Given the description of an element on the screen output the (x, y) to click on. 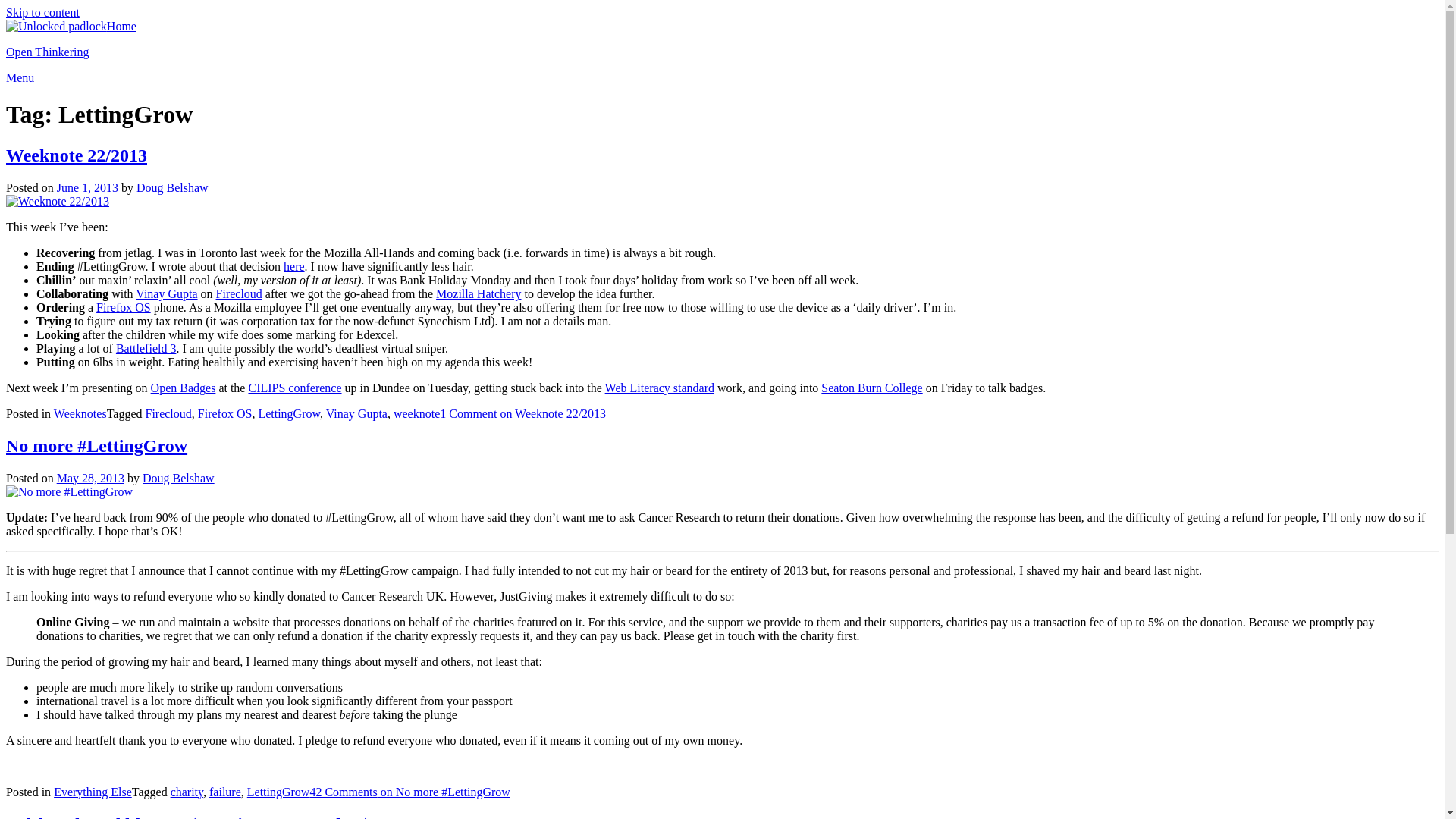
June 1, 2013 (86, 187)
Firefox OS (224, 413)
Firefox OS (123, 307)
Seaton Burn College (871, 387)
Weeknotes (79, 413)
here (293, 266)
Open Thinkering (46, 51)
CILIPS conference (293, 387)
Web Literacy standard (659, 387)
charity (186, 791)
